Given the description of an element on the screen output the (x, y) to click on. 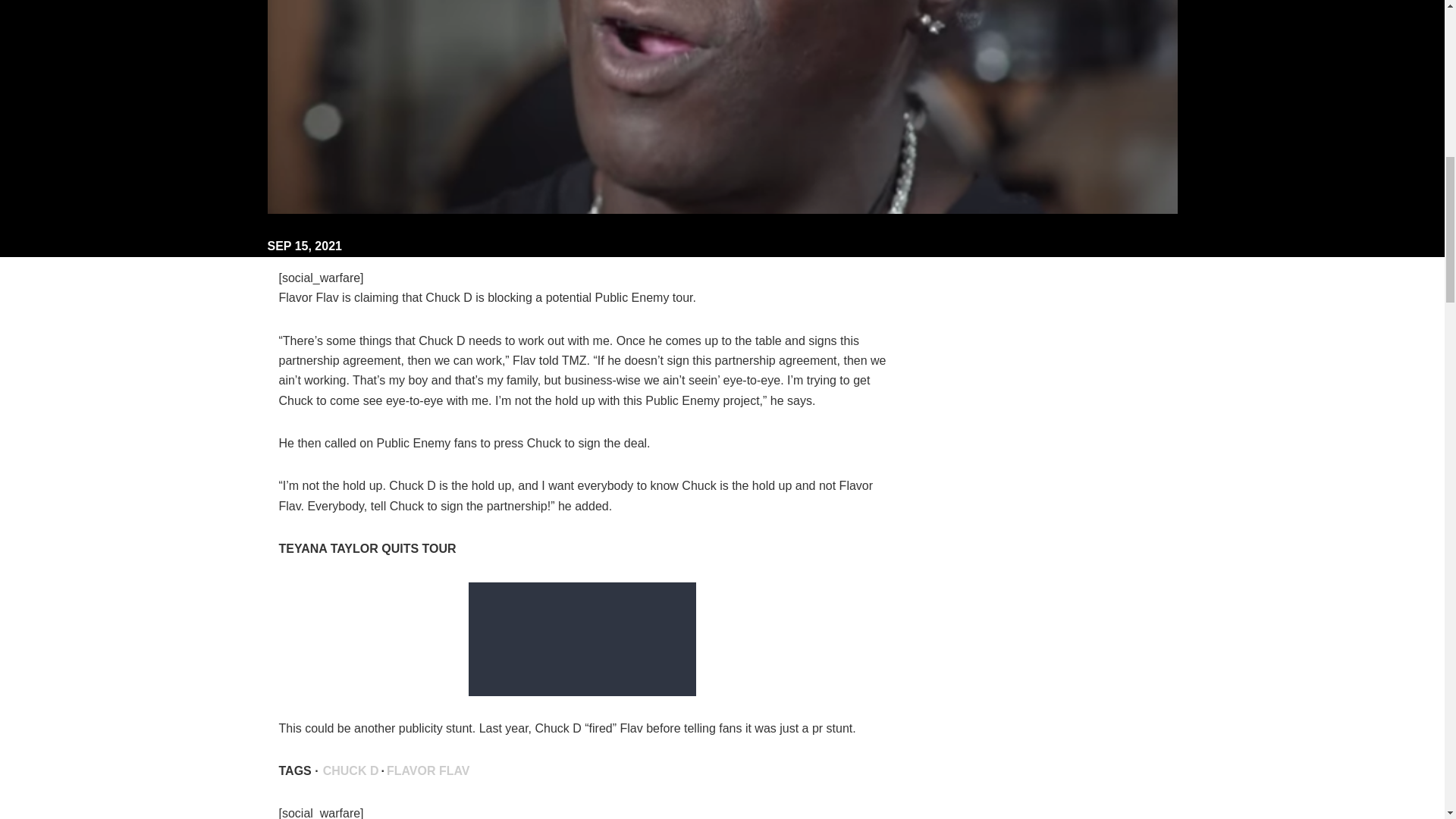
CHUCK D (350, 770)
FLAVOR FLAV (427, 770)
